Given the description of an element on the screen output the (x, y) to click on. 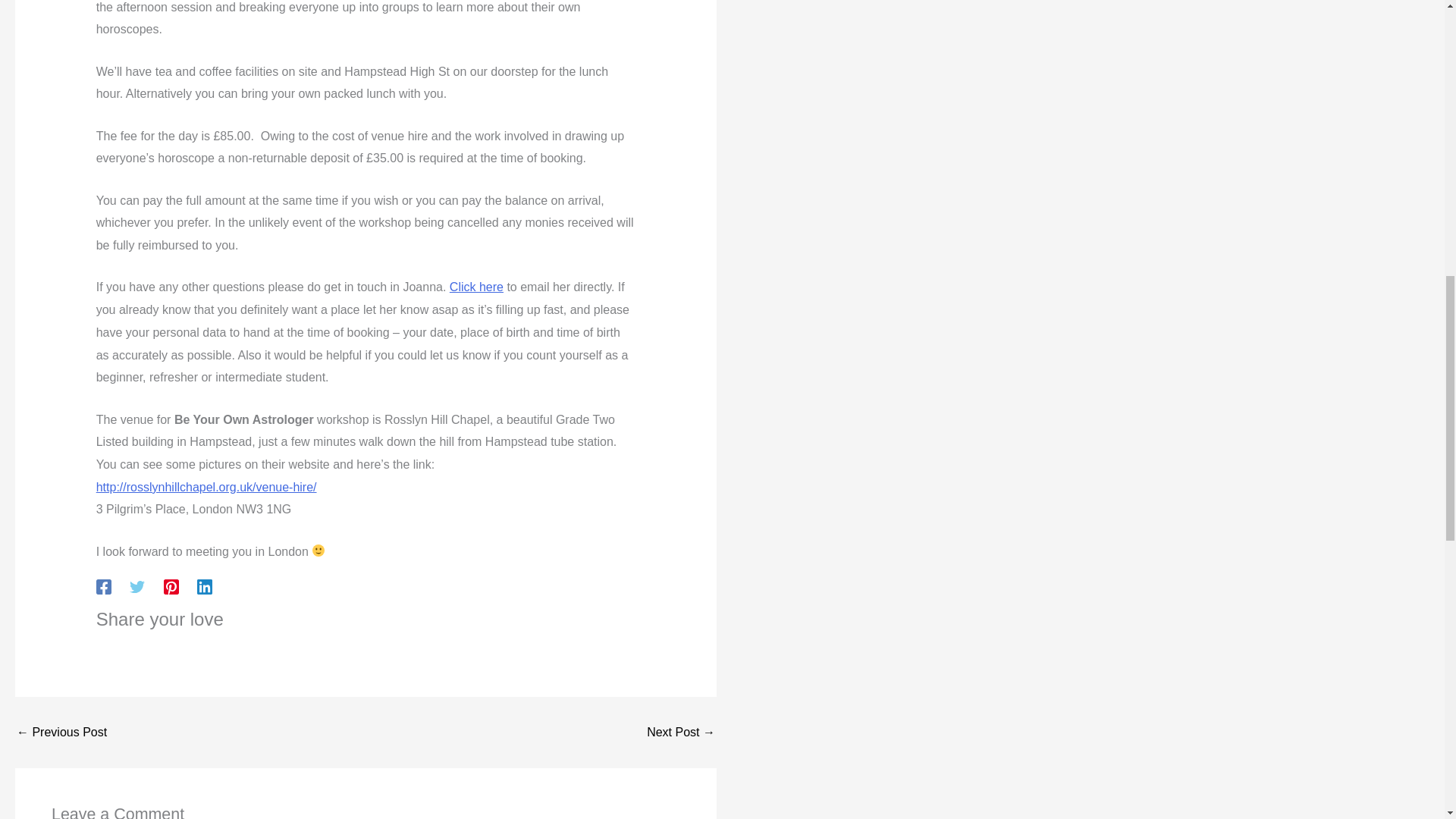
March Astrology Exposed (61, 732)
What Mars In Aries Looks Like In Real Life (680, 732)
Rosslyn Hill Chapel (206, 486)
